Given the description of an element on the screen output the (x, y) to click on. 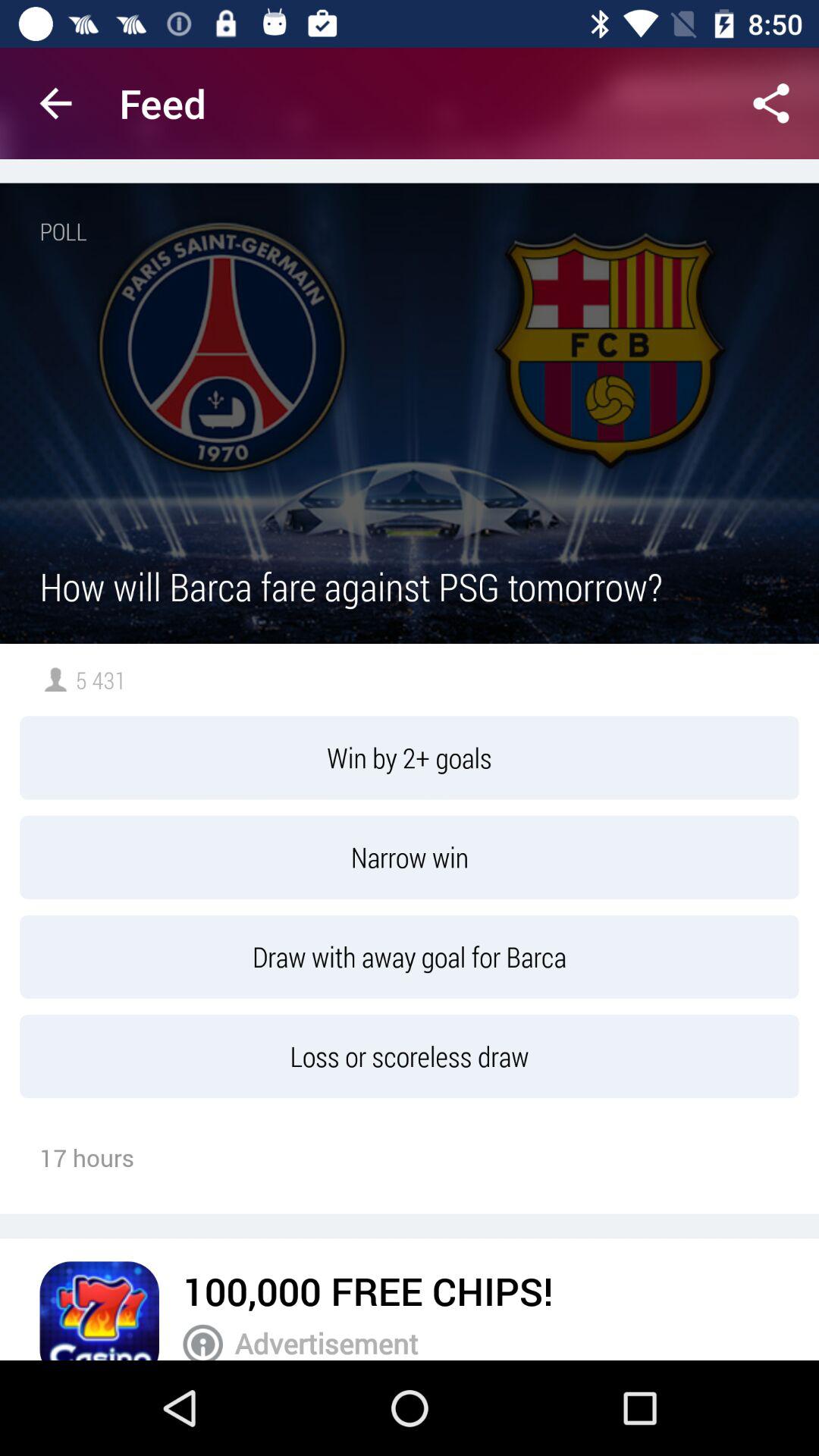
launch item next to the feed app (771, 103)
